Given the description of an element on the screen output the (x, y) to click on. 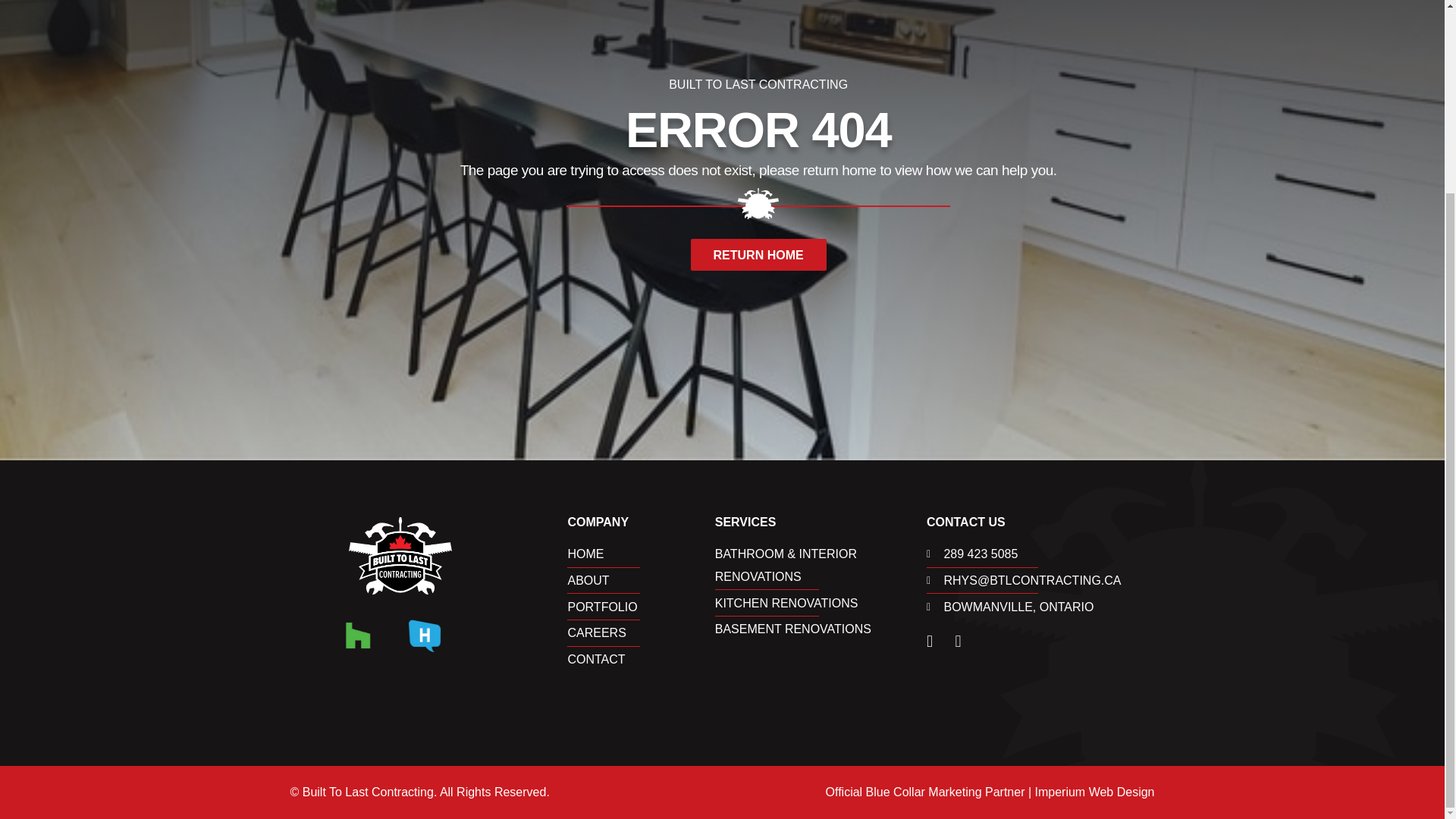
289 423 5085 (1040, 553)
KITCHEN RENOVATIONS (820, 603)
HOME (640, 553)
BOWMANVILLE, ONTARIO (1040, 607)
Official Blue Collar Marketing Partner (925, 791)
CONTACT (640, 659)
CAREERS (640, 632)
ABOUT (640, 580)
PORTFOLIO (640, 607)
RETURN HOME (758, 255)
